Given the description of an element on the screen output the (x, y) to click on. 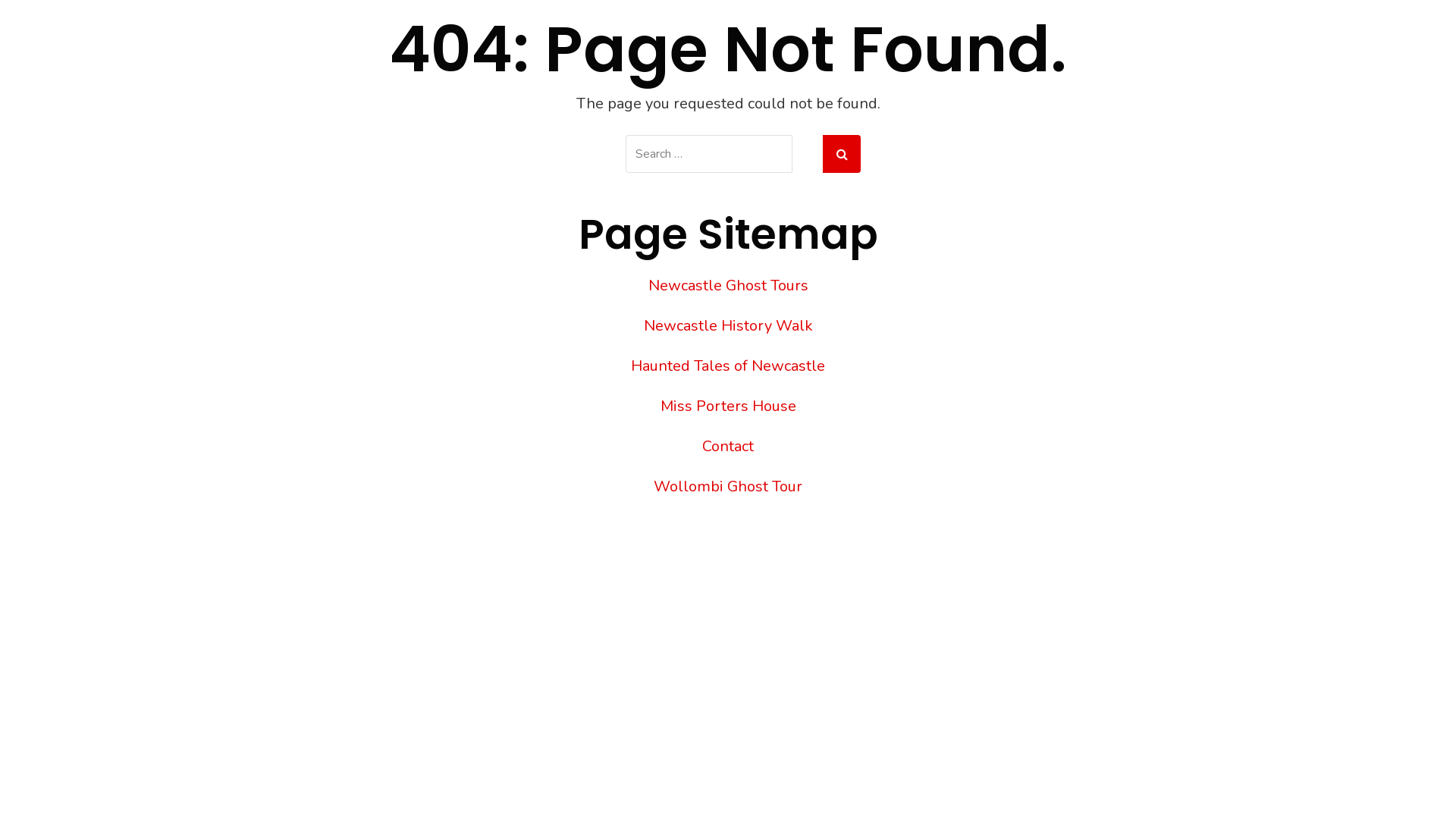
Newcastle History Walk Element type: text (727, 325)
Wollombi Ghost Tour Element type: text (727, 486)
Contact Element type: text (727, 446)
Haunted Tales of Newcastle Element type: text (727, 365)
Newcastle Ghost Tours Element type: text (727, 285)
Miss Porters House Element type: text (727, 405)
